Given the description of an element on the screen output the (x, y) to click on. 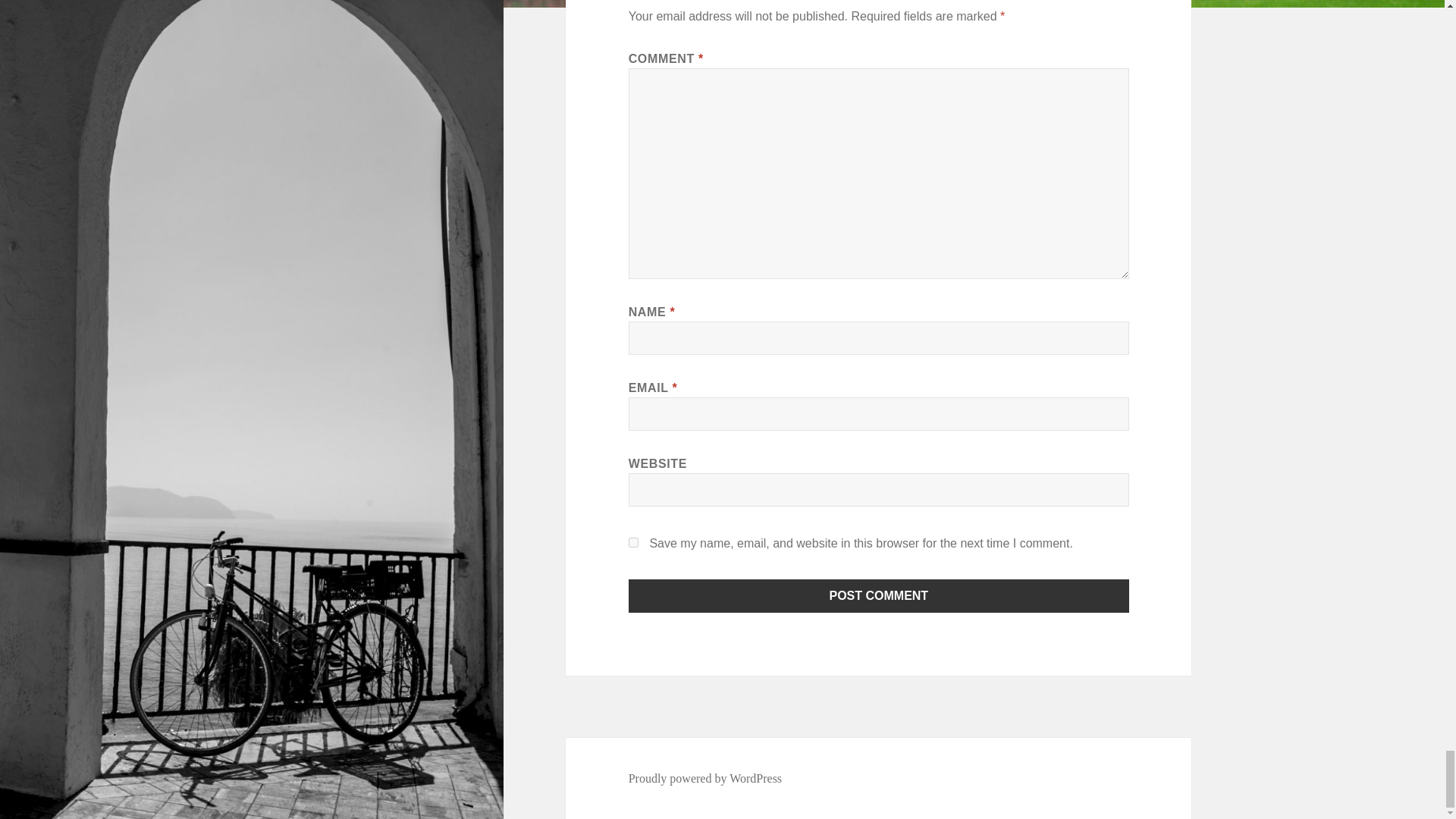
Post Comment (878, 595)
Proudly powered by WordPress (704, 778)
yes (633, 542)
Post Comment (878, 595)
